Given the description of an element on the screen output the (x, y) to click on. 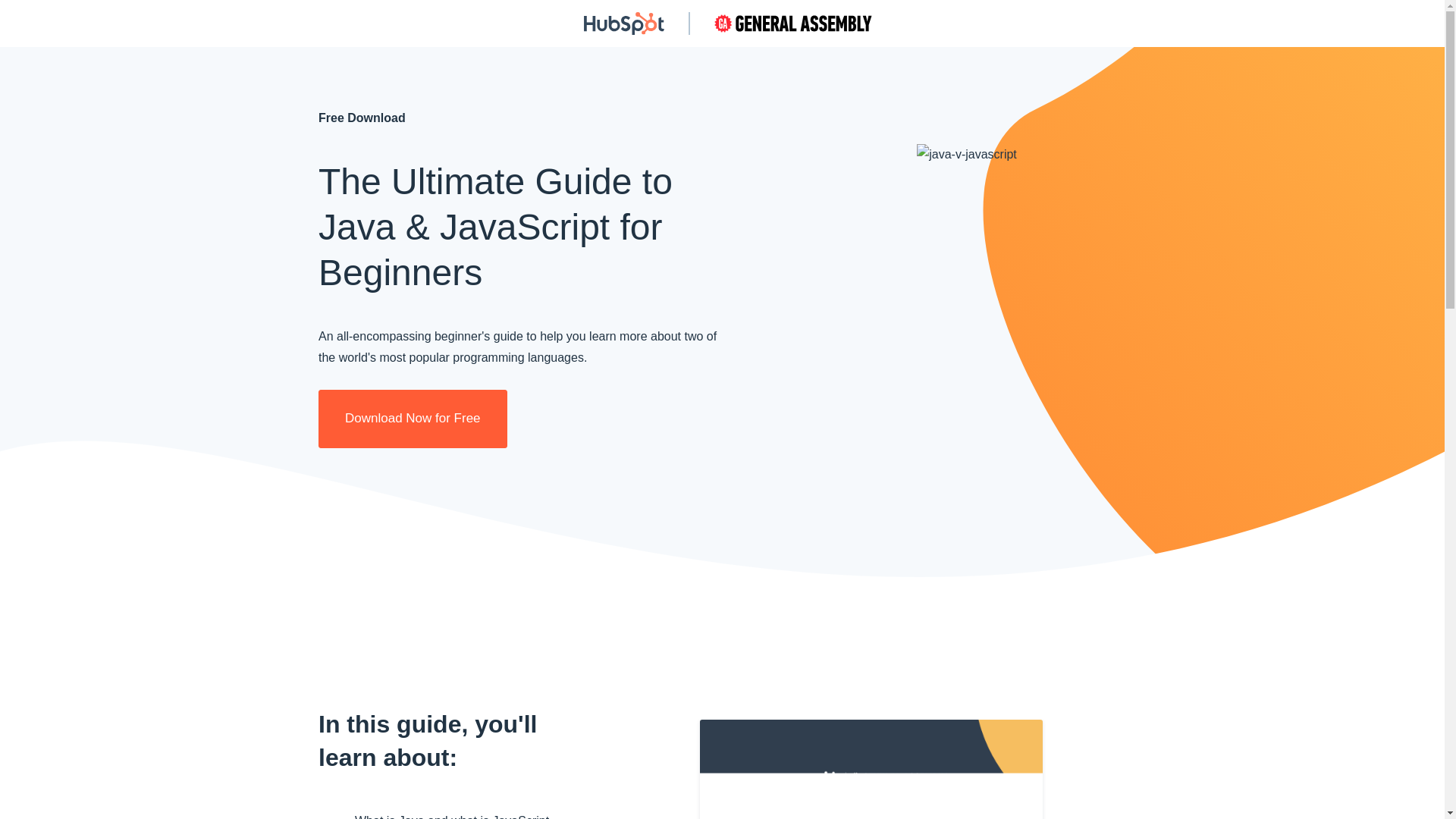
Download Now for Free (412, 418)
